Given the description of an element on the screen output the (x, y) to click on. 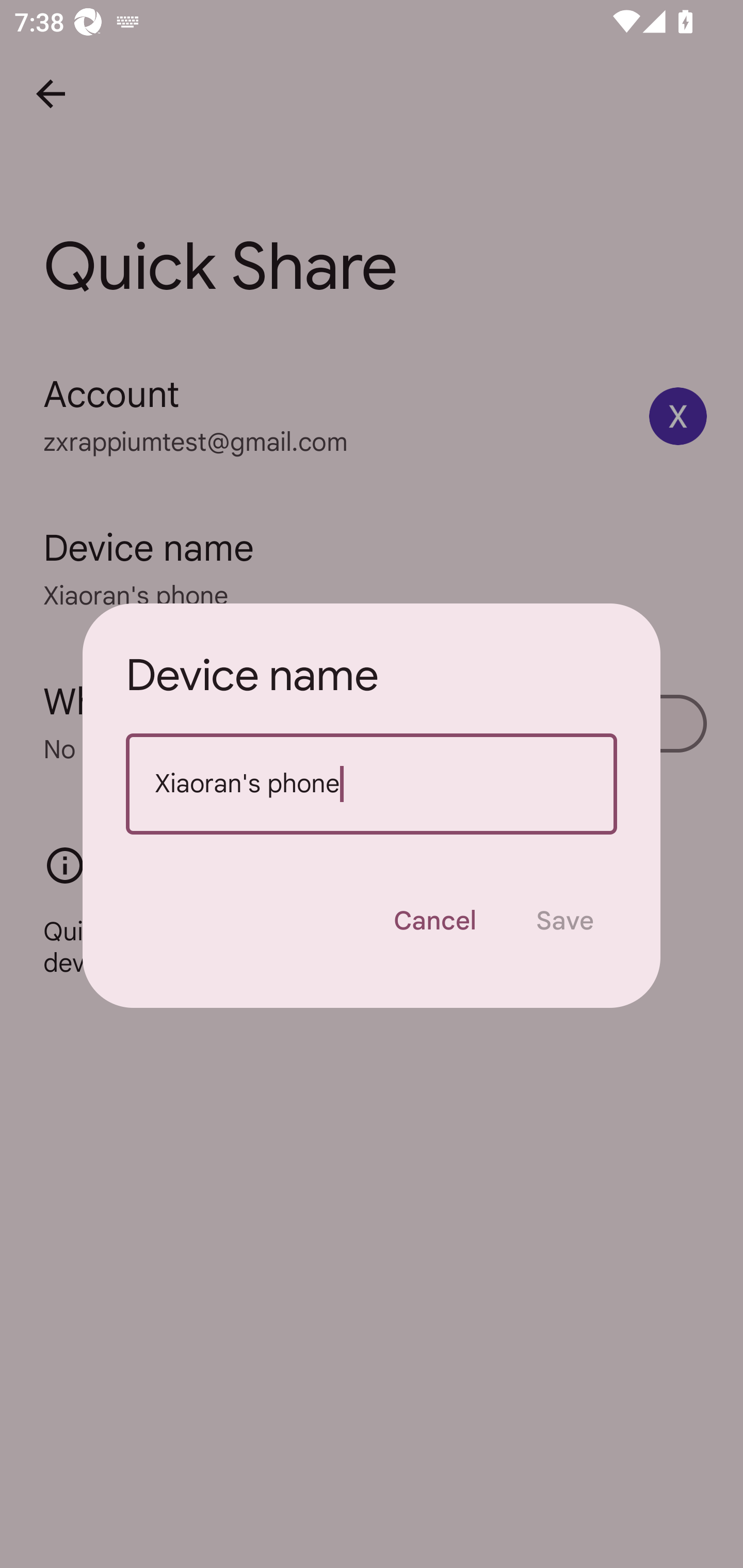
Xiaoran's phone Device name (371, 783)
Cancel (434, 921)
Save (564, 921)
